Given the description of an element on the screen output the (x, y) to click on. 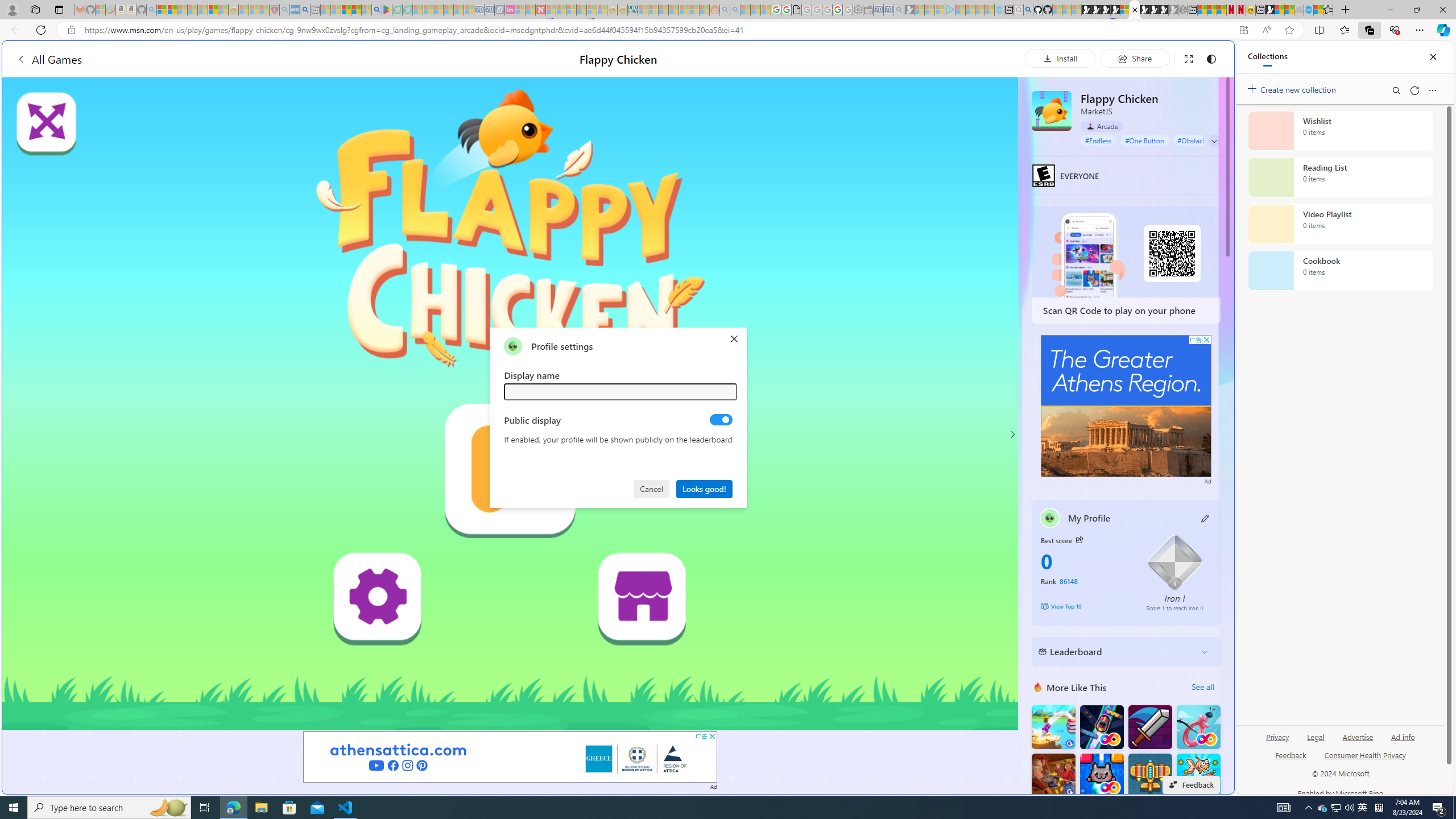
App available. Install Flappy Chicken (1243, 29)
utah sues federal government - Search (922, 389)
Saloon Robbery (1053, 775)
More Like This (1037, 686)
Class: expand-arrow neutral (1214, 141)
Arcade (1101, 126)
